Given the description of an element on the screen output the (x, y) to click on. 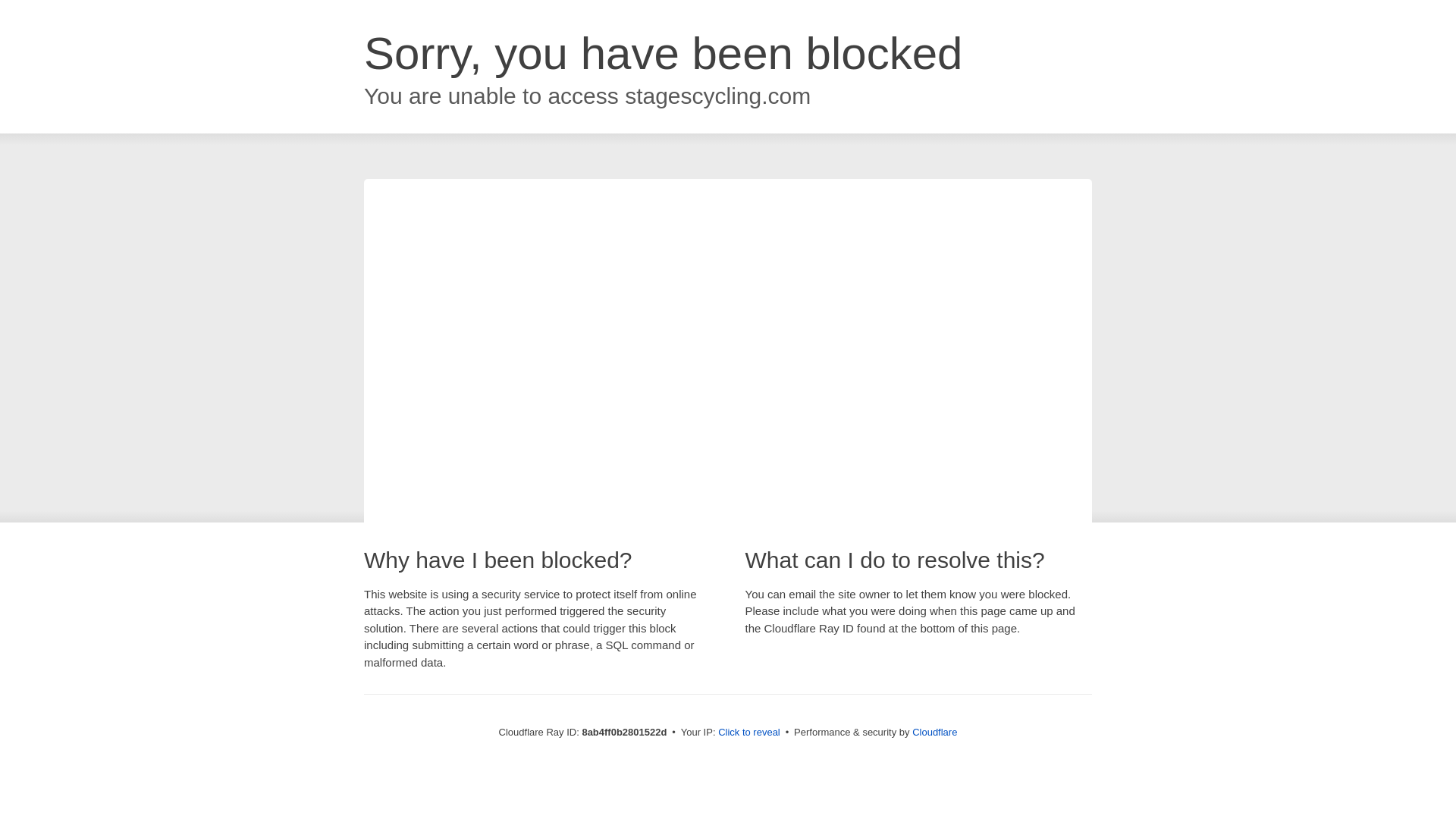
Click to reveal (748, 732)
Cloudflare (934, 731)
